Given the description of an element on the screen output the (x, y) to click on. 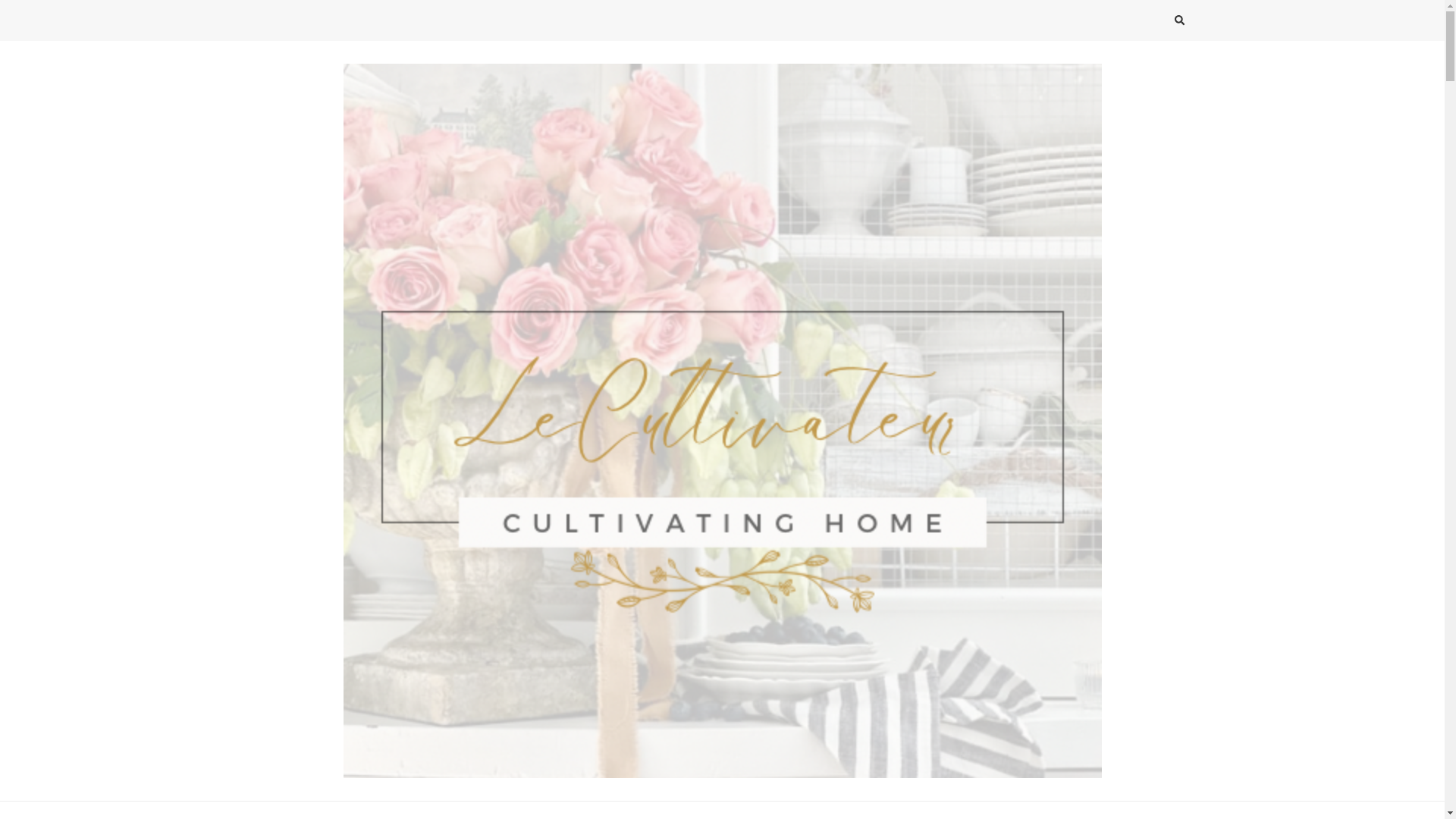
About (683, 810)
LeCultivateur (324, 791)
As Seen In (822, 810)
Home (747, 810)
Contact (614, 810)
Search (1151, 22)
